Given the description of an element on the screen output the (x, y) to click on. 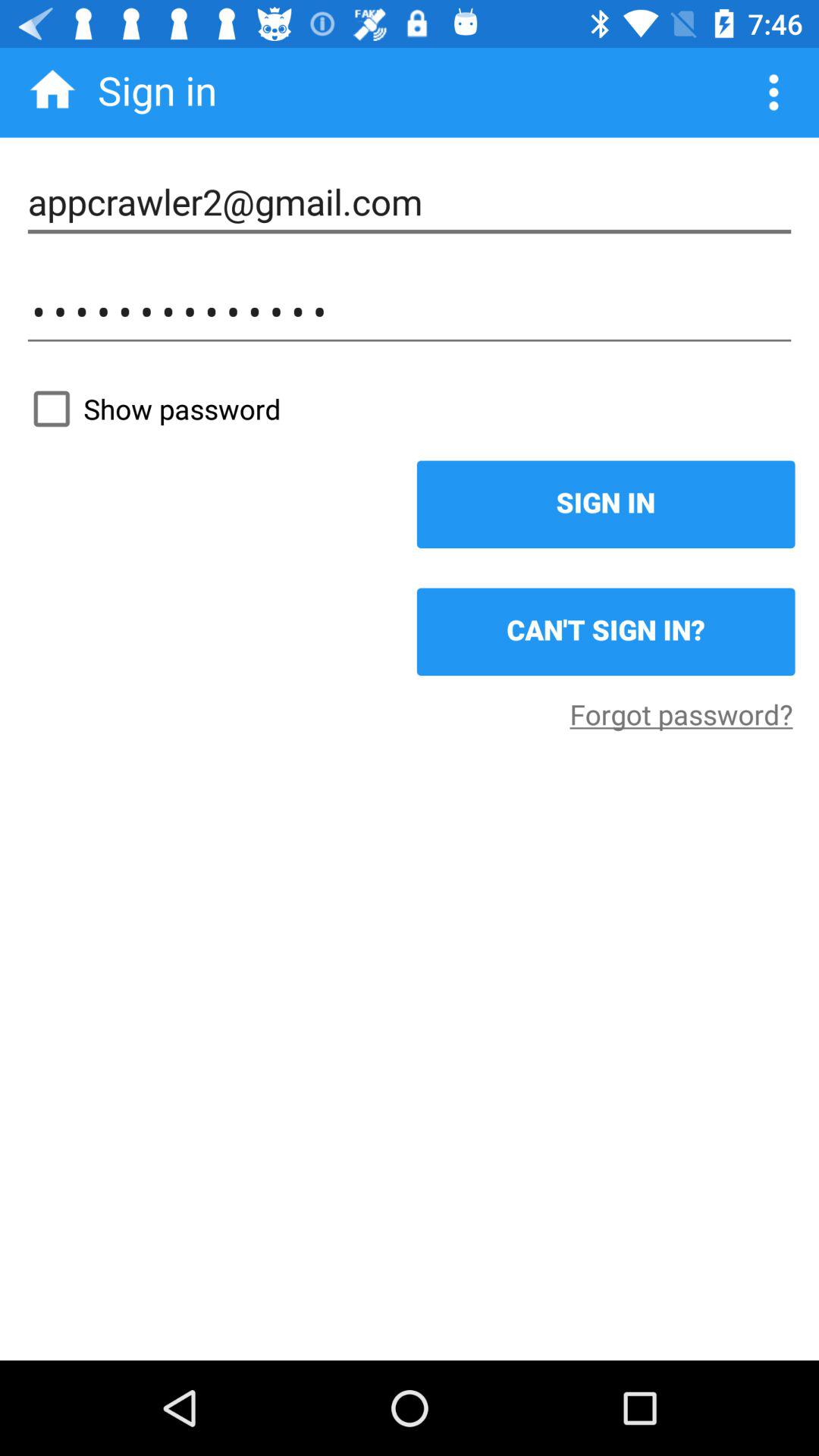
open forgot password? icon (680, 714)
